Given the description of an element on the screen output the (x, y) to click on. 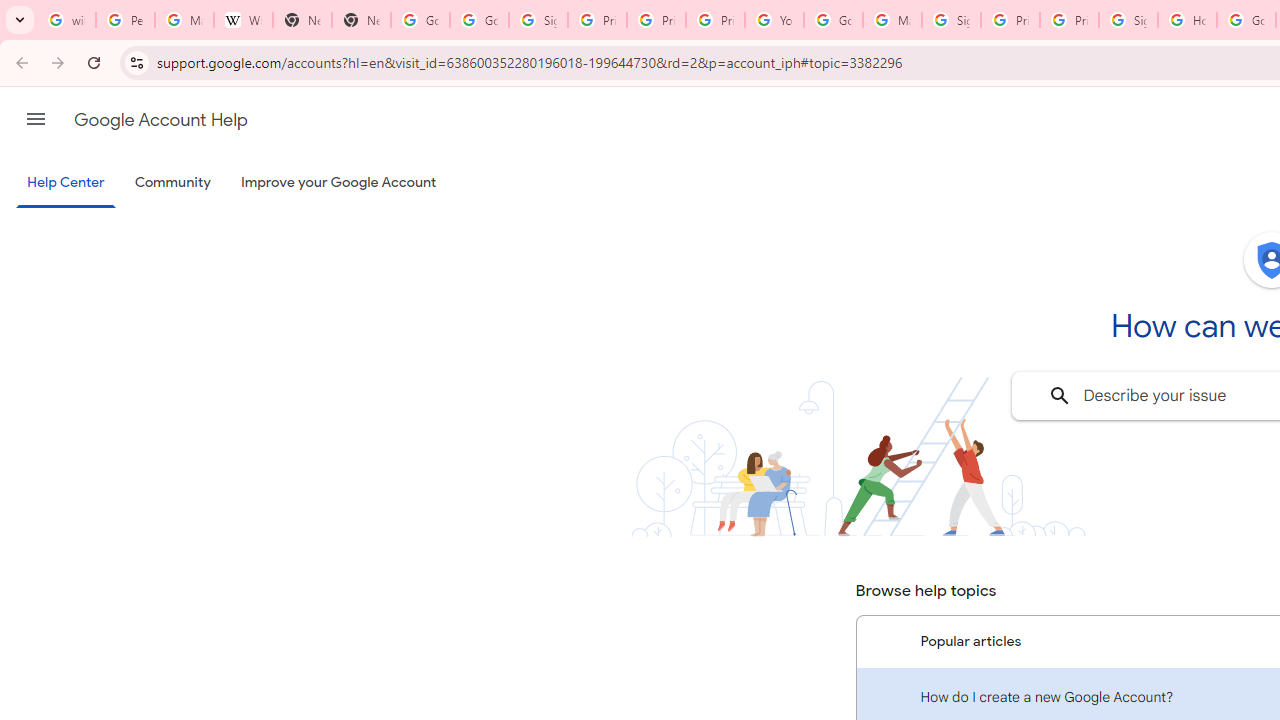
Improve your Google Account (339, 183)
New Tab (301, 20)
